Given the description of an element on the screen output the (x, y) to click on. 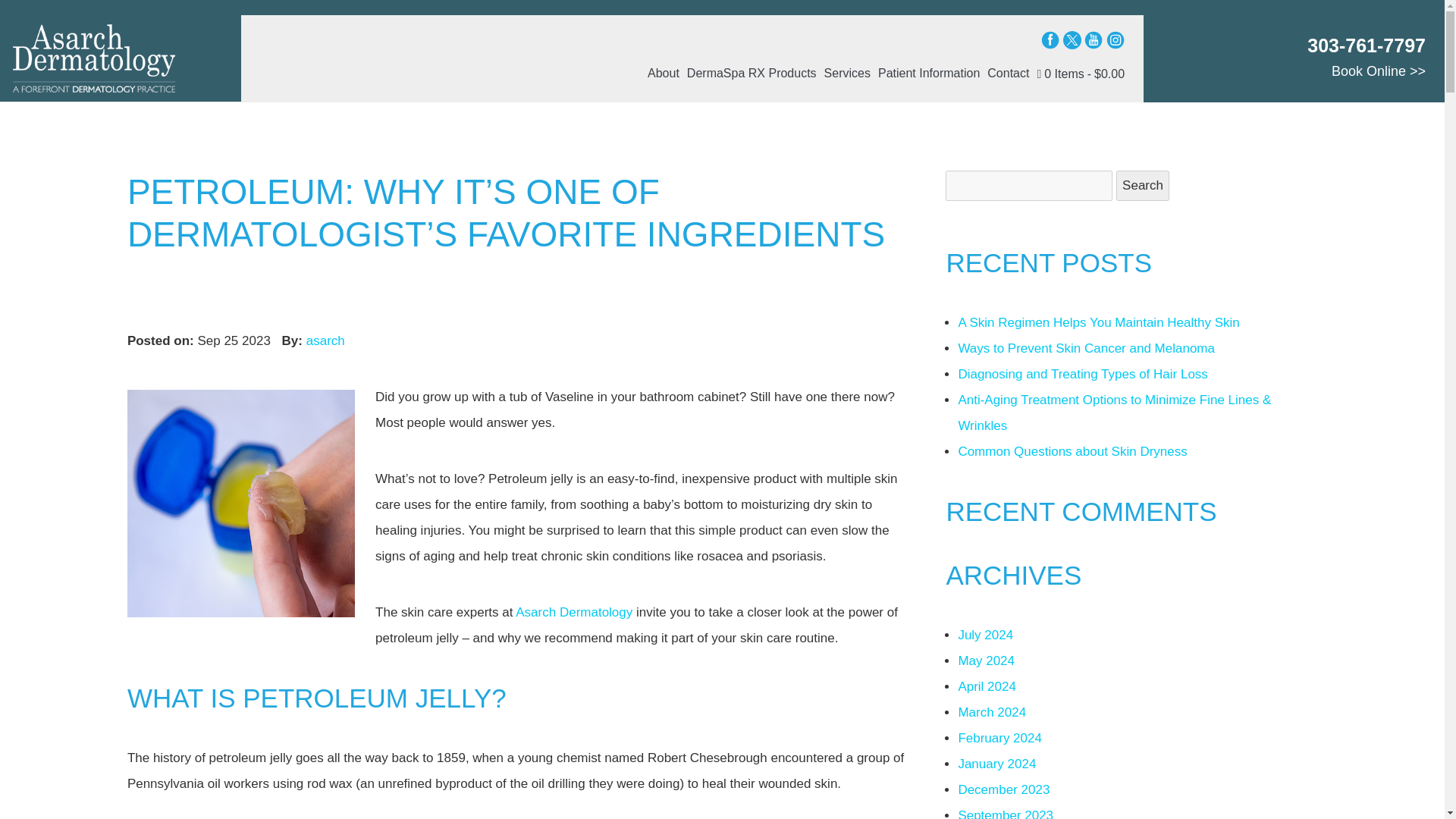
About (664, 71)
Posts by asarch (325, 340)
Search (1142, 185)
DermaSpa RX Products (751, 71)
Start shopping (1078, 72)
Services (848, 71)
